Given the description of an element on the screen output the (x, y) to click on. 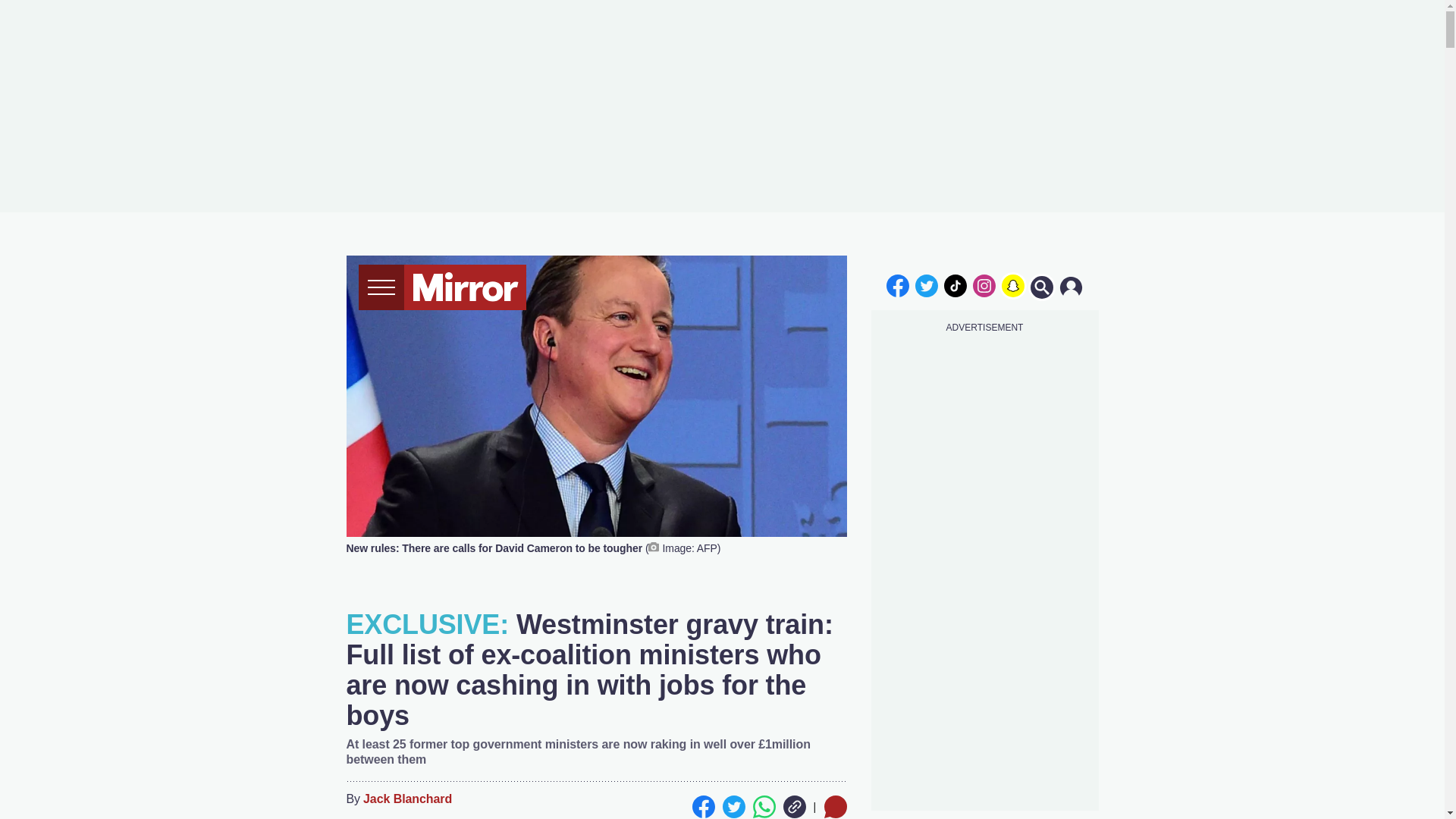
Facebook (702, 806)
facebook (897, 285)
twitter (926, 285)
snapchat (1012, 285)
tiktok (955, 285)
instagram (984, 285)
Twitter (733, 806)
Whatsapp (763, 806)
Comments (834, 806)
Jack Blanchard (406, 799)
